Given the description of an element on the screen output the (x, y) to click on. 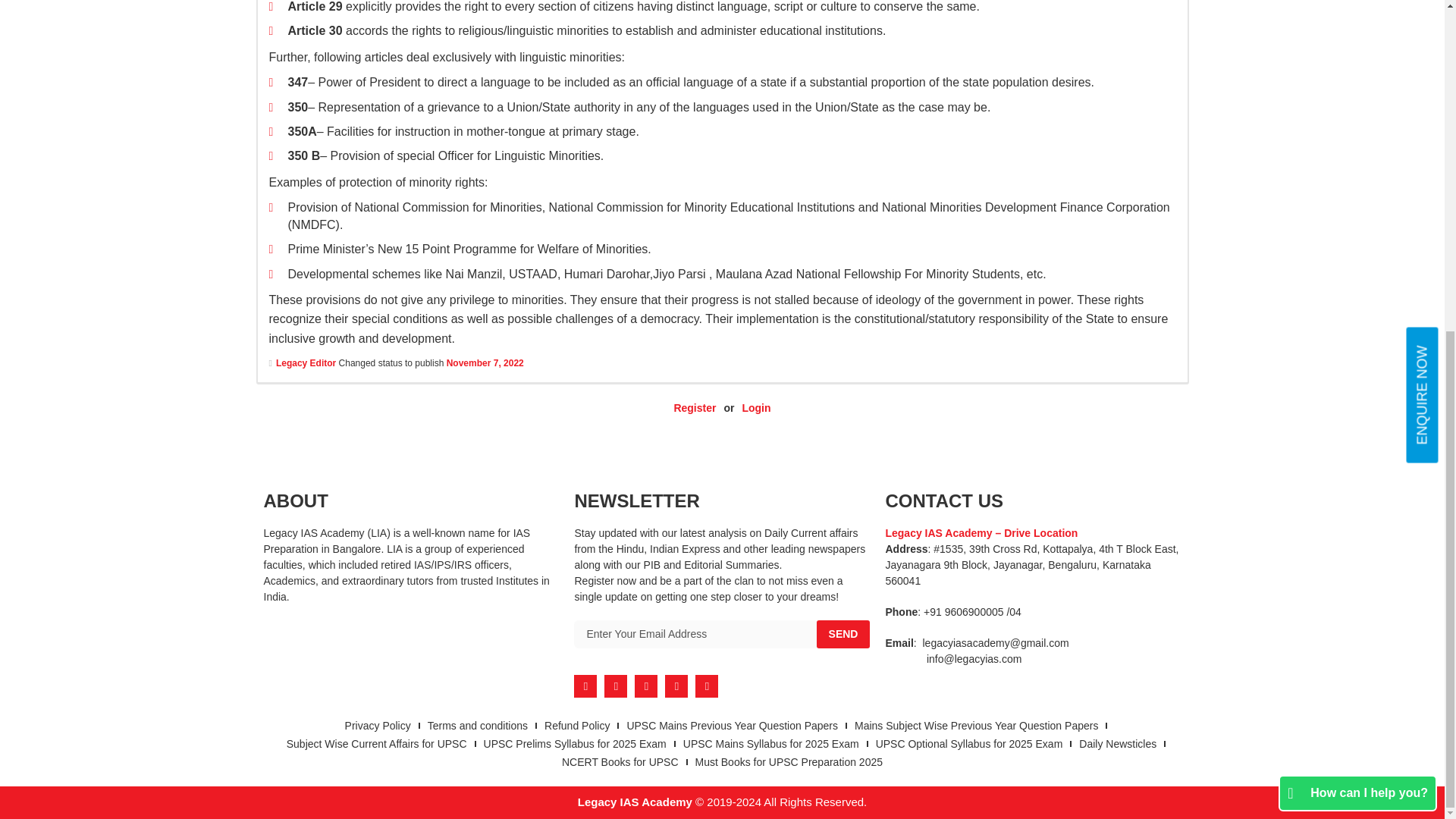
Send (843, 633)
Enter Your Email Address (694, 633)
